Given the description of an element on the screen output the (x, y) to click on. 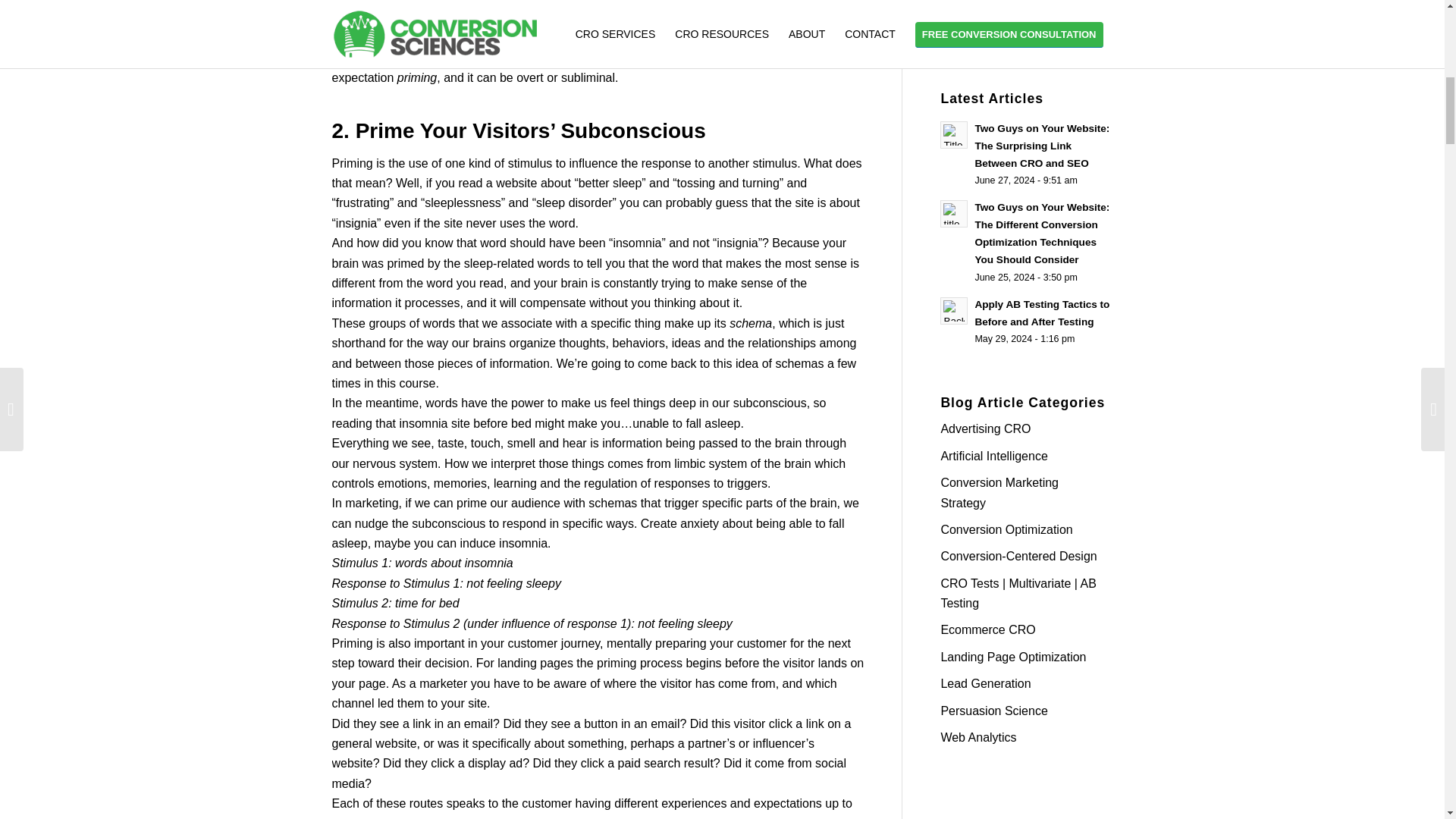
Join the Course (997, 11)
